Given the description of an element on the screen output the (x, y) to click on. 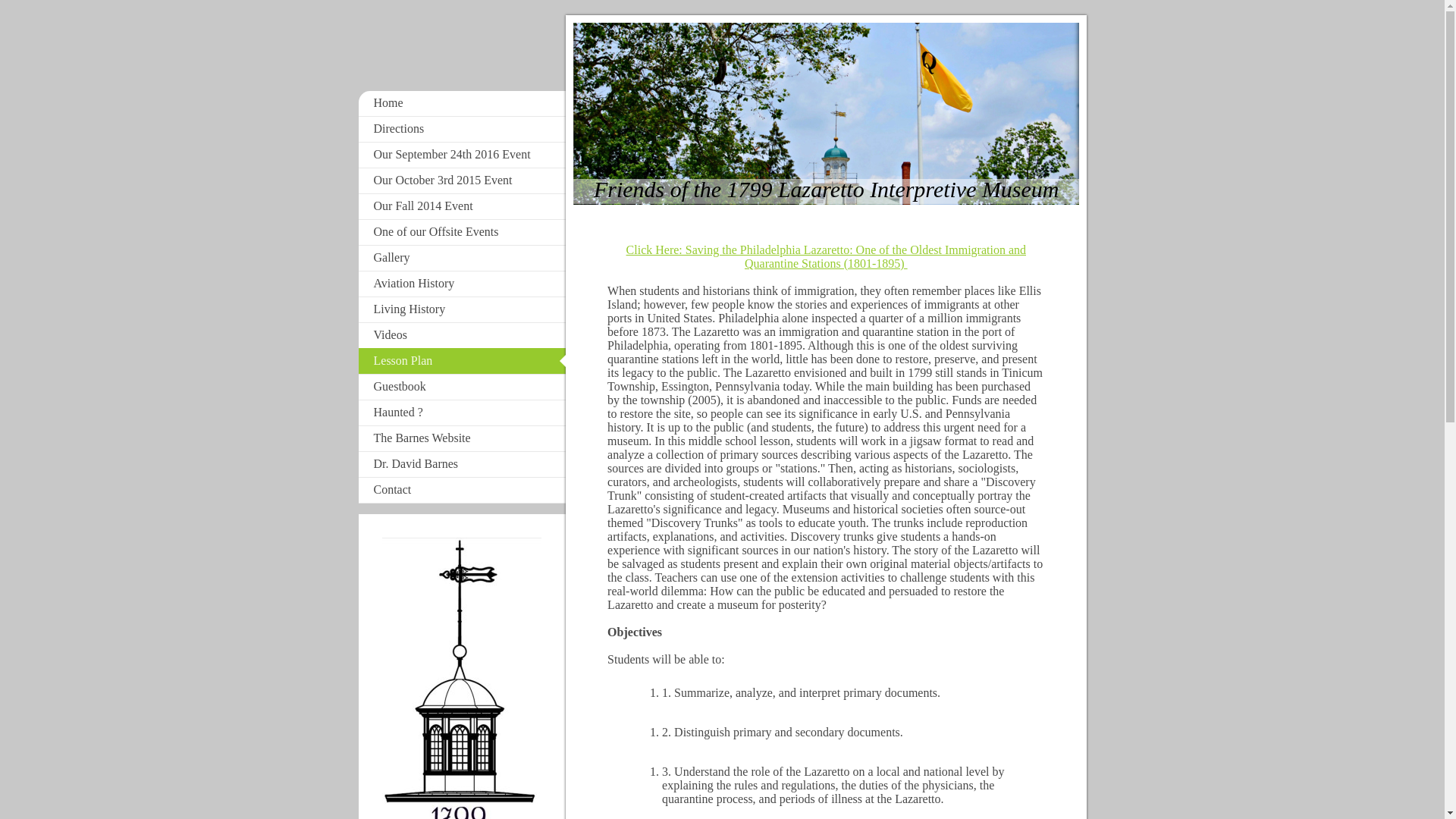
Our October 3rd 2015 Event Element type: text (461, 180)
Our September 24th 2016 Event Element type: text (461, 154)
One of our Offsite Events Element type: text (461, 232)
Aviation History Element type: text (461, 283)
Directions Element type: text (461, 129)
Dr. David Barnes Element type: text (461, 464)
Home Element type: text (461, 103)
Lesson Plan Element type: text (461, 361)
Gallery Element type: text (461, 257)
Contact Element type: text (461, 489)
Haunted ? Element type: text (461, 412)
Videos Element type: text (461, 335)
Our Fall 2014 Event Element type: text (461, 206)
Guestbook Element type: text (461, 386)
The Barnes Website Element type: text (461, 438)
Living History Element type: text (461, 309)
